Given the description of an element on the screen output the (x, y) to click on. 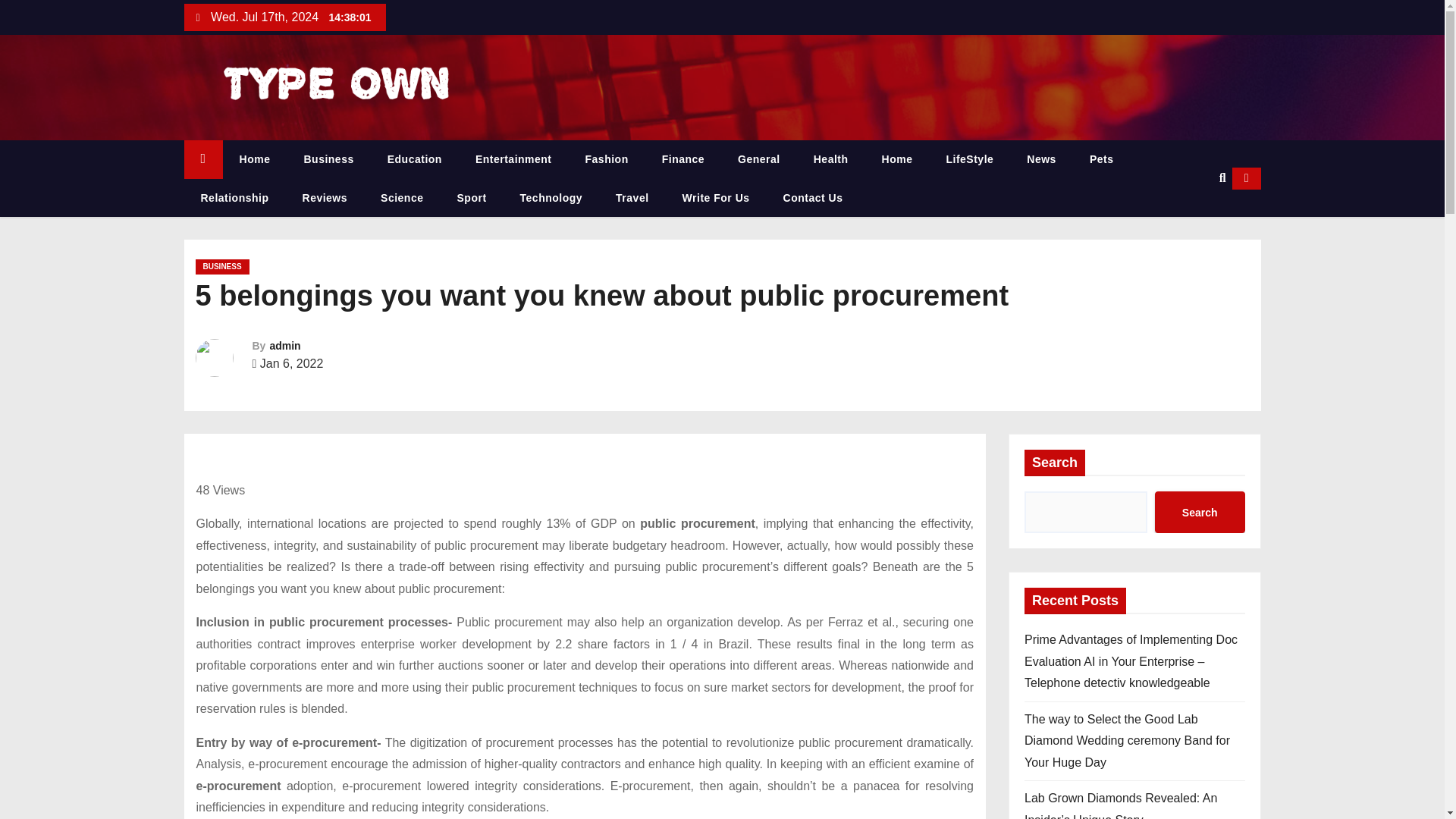
Education (414, 159)
Home (254, 159)
Home (202, 159)
LifeStyle (969, 159)
Health (830, 159)
Fashion (607, 159)
Science (401, 198)
News (1041, 159)
Home (897, 159)
Pets (1102, 159)
Relationship (234, 198)
Business (327, 159)
General (758, 159)
Finance (682, 159)
Technology (551, 198)
